Given the description of an element on the screen output the (x, y) to click on. 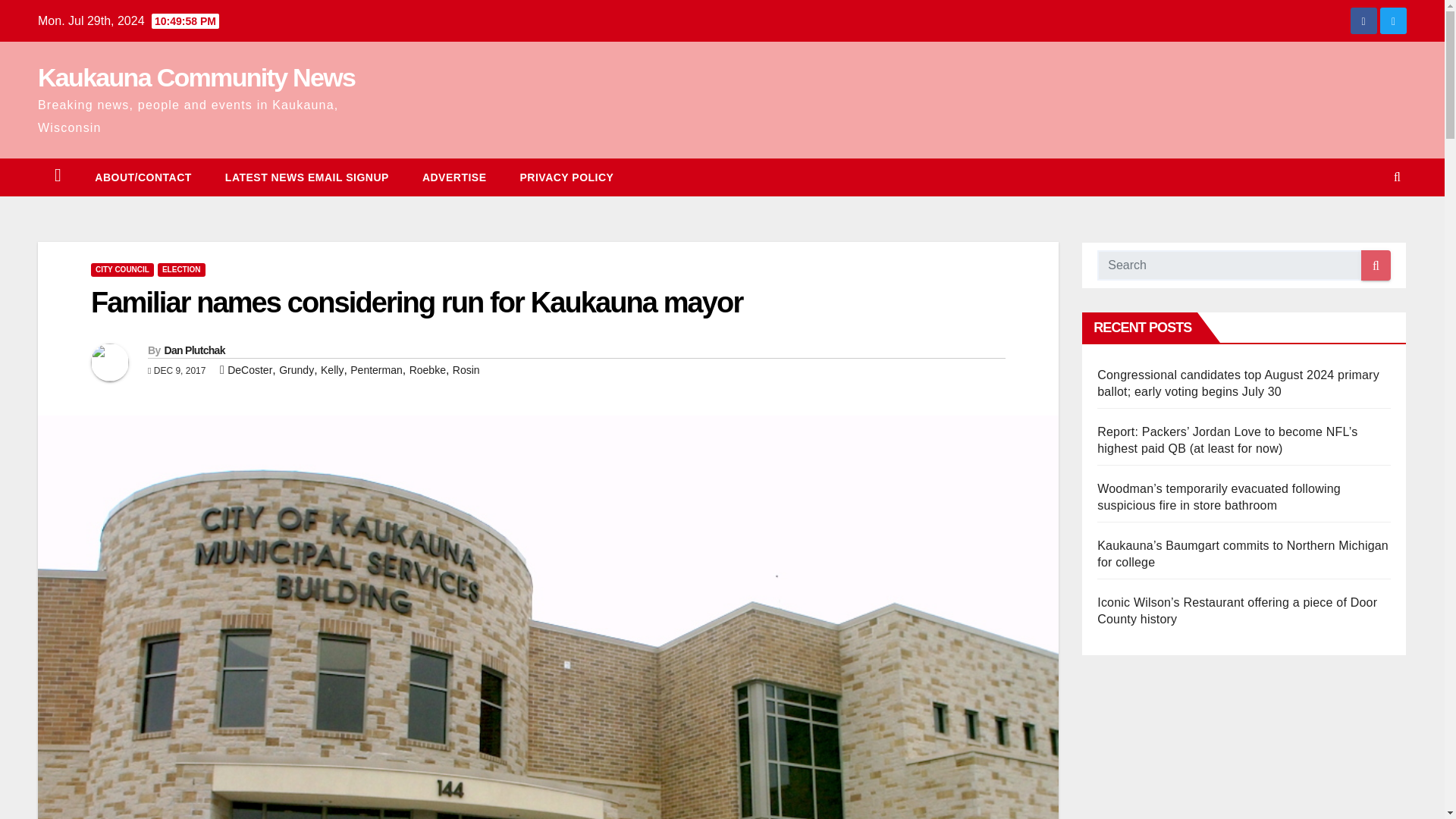
Grundy (296, 369)
DeCoster (249, 369)
Kelly (331, 369)
ADVERTISE (454, 177)
PRIVACY POLICY (566, 177)
Kaukauna Community News (196, 77)
ELECTION (181, 269)
CITY COUNCIL (122, 269)
Familiar names considering run for Kaukauna mayor (416, 302)
Penterman (375, 369)
Rosin (466, 369)
Roebke (427, 369)
LATEST NEWS EMAIL SIGNUP (307, 177)
Dan Plutchak (193, 349)
